Given the description of an element on the screen output the (x, y) to click on. 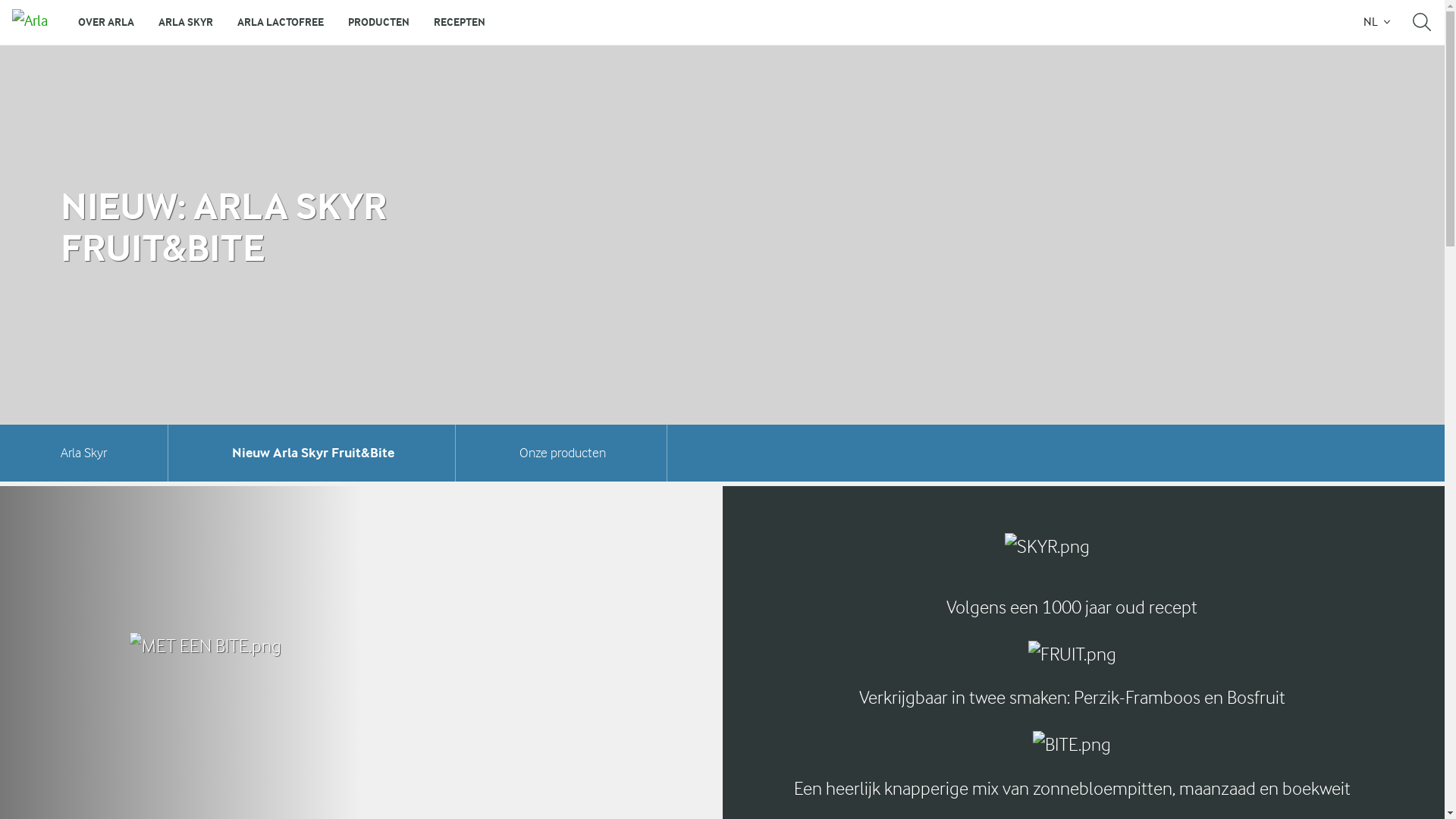
RECEPTEN Element type: text (459, 22)
Zoeken Element type: hover (1421, 22)
Onze producten Element type: text (562, 452)
Nieuw Arla Skyr Fruit&Bite Element type: text (313, 452)
Arla Skyr Element type: text (83, 452)
ARLA SKYR Element type: text (185, 22)
ARLA LACTOFREE Element type: text (280, 22)
NL Element type: text (1376, 22)
OVER ARLA Element type: text (105, 22)
PRODUCTEN Element type: text (378, 22)
